Given the description of an element on the screen output the (x, y) to click on. 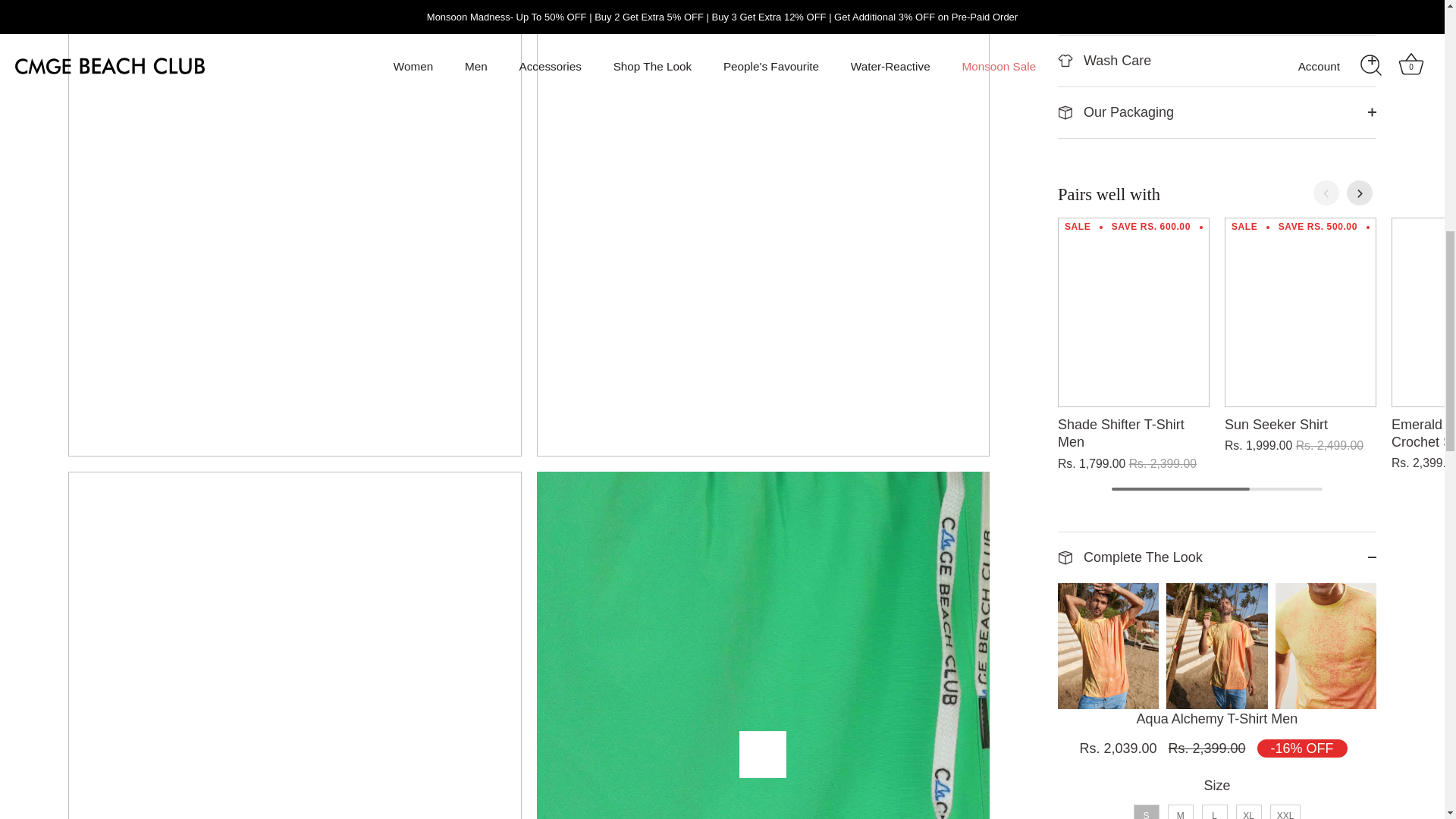
1 (1244, 680)
